Given the description of an element on the screen output the (x, y) to click on. 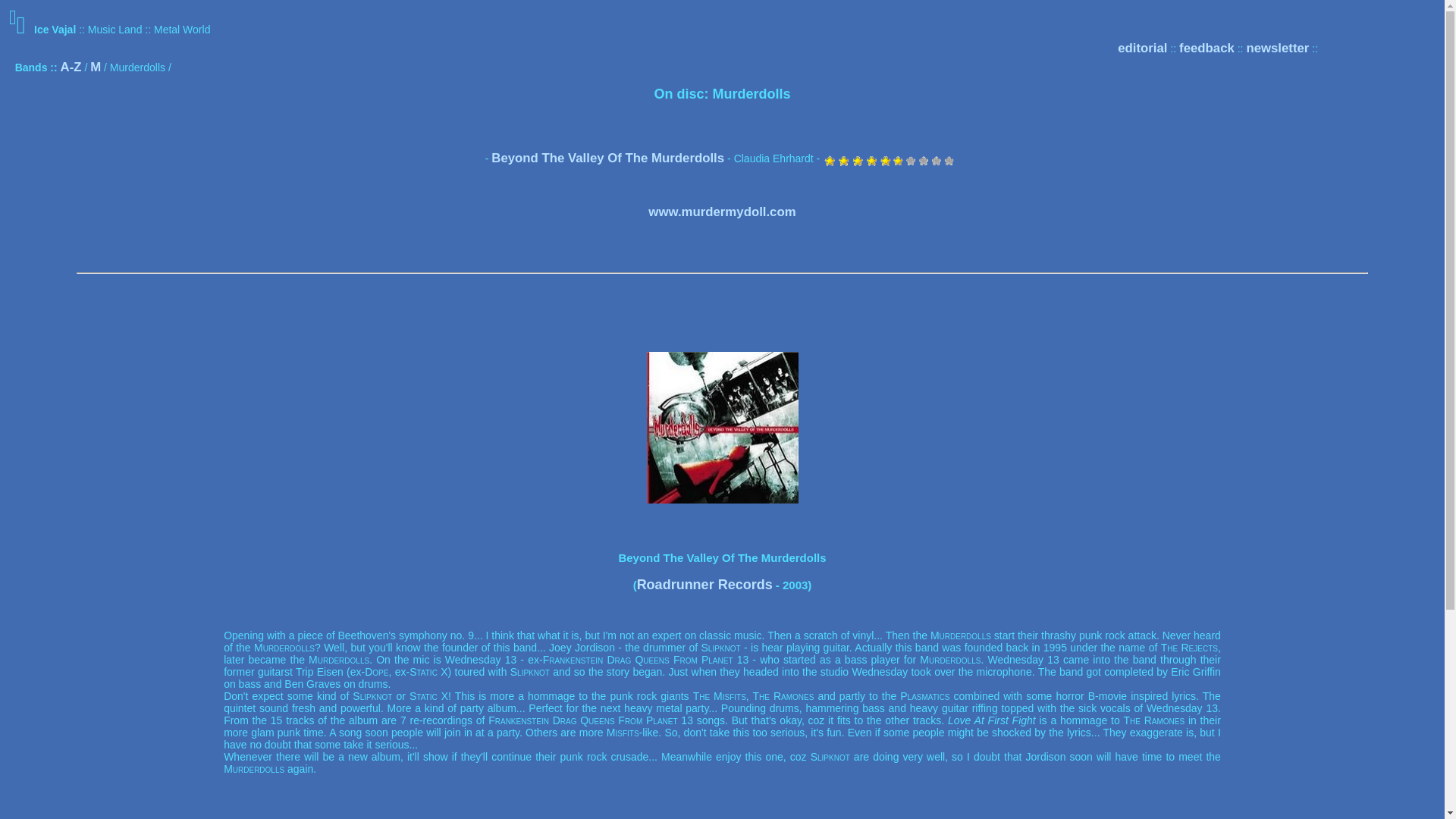
www.murdermydoll.com (720, 211)
Roadrunner Records (705, 584)
A-Z (71, 66)
feedback (1206, 47)
Beyond The Valley Of The Murderdolls (607, 157)
newsletter (1277, 47)
editorial (1142, 47)
